Given the description of an element on the screen output the (x, y) to click on. 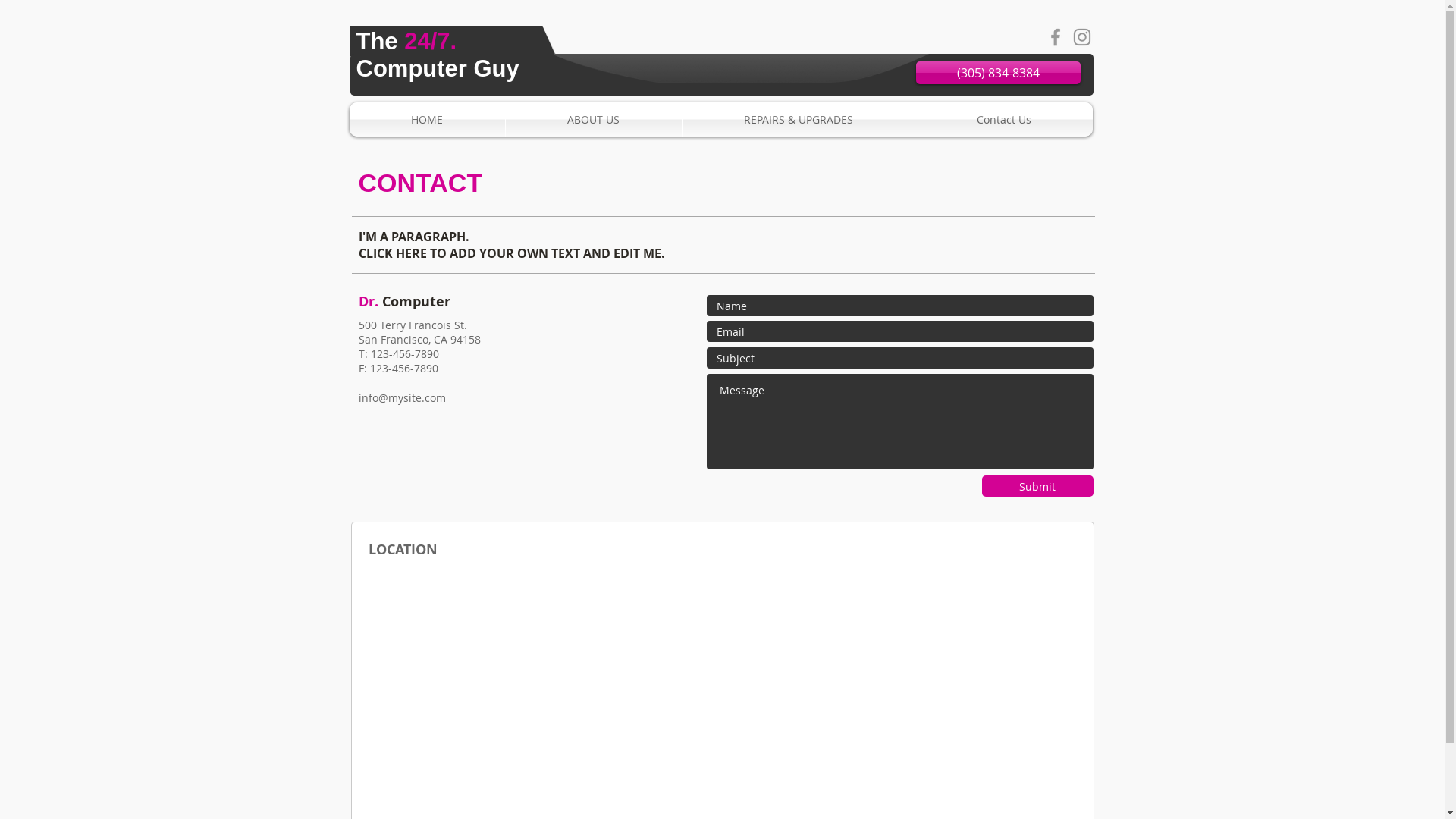
ABOUT US Element type: text (592, 119)
HOME Element type: text (426, 119)
REPAIRS & UPGRADES Element type: text (798, 119)
Submit Element type: text (1036, 485)
Contact Us Element type: text (1003, 119)
(305) 834-8384 Element type: text (998, 72)
info@mysite.com Element type: text (401, 396)
The 24/7.
Computer Guy Element type: text (437, 54)
